Given the description of an element on the screen output the (x, y) to click on. 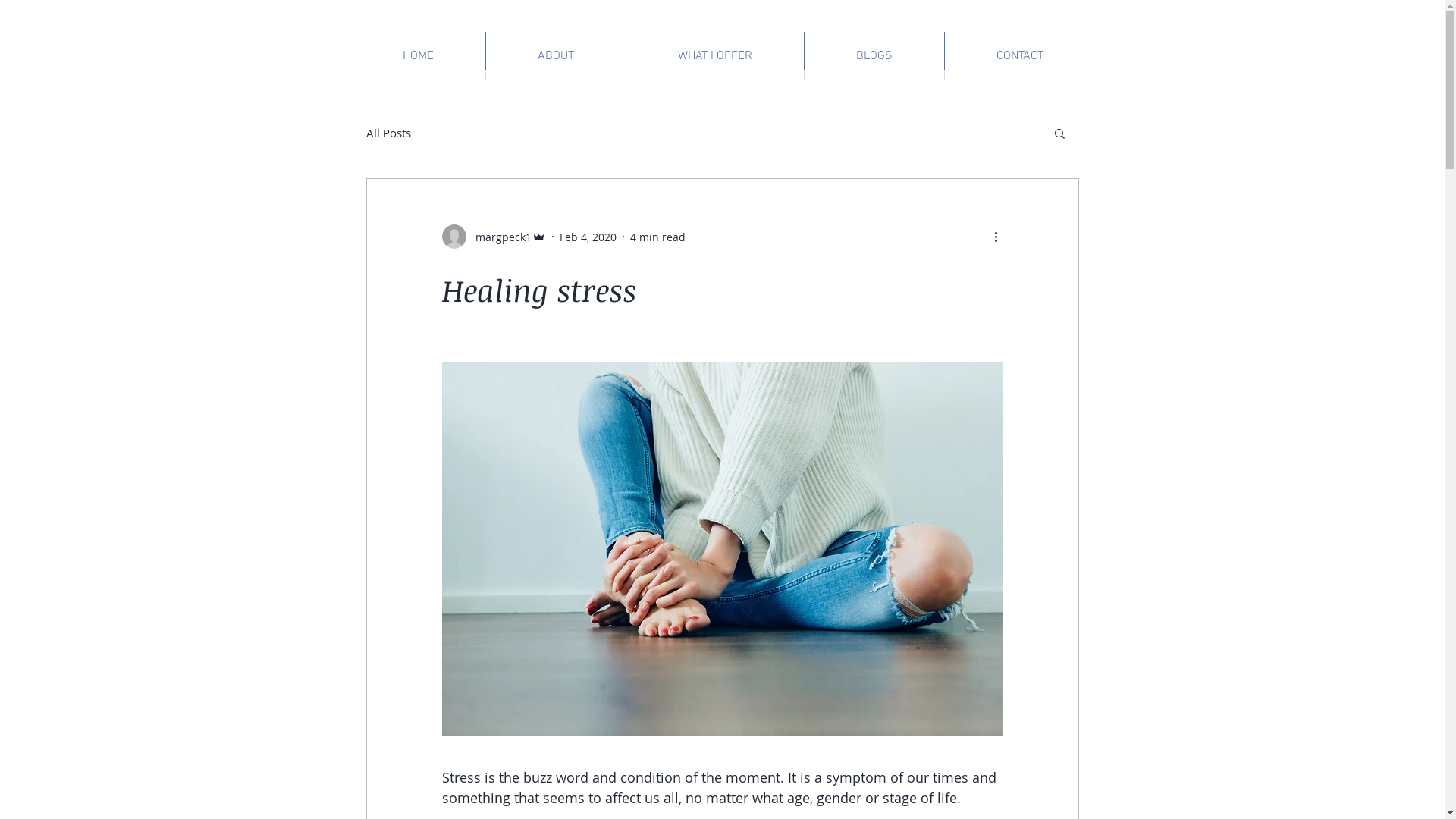
HOME Element type: text (417, 55)
BLOGS Element type: text (873, 55)
WHAT I OFFER Element type: text (714, 55)
ABOUT Element type: text (554, 55)
All Posts Element type: text (387, 132)
margpeck1 Element type: text (493, 236)
CONTACT Element type: text (1019, 55)
